Given the description of an element on the screen output the (x, y) to click on. 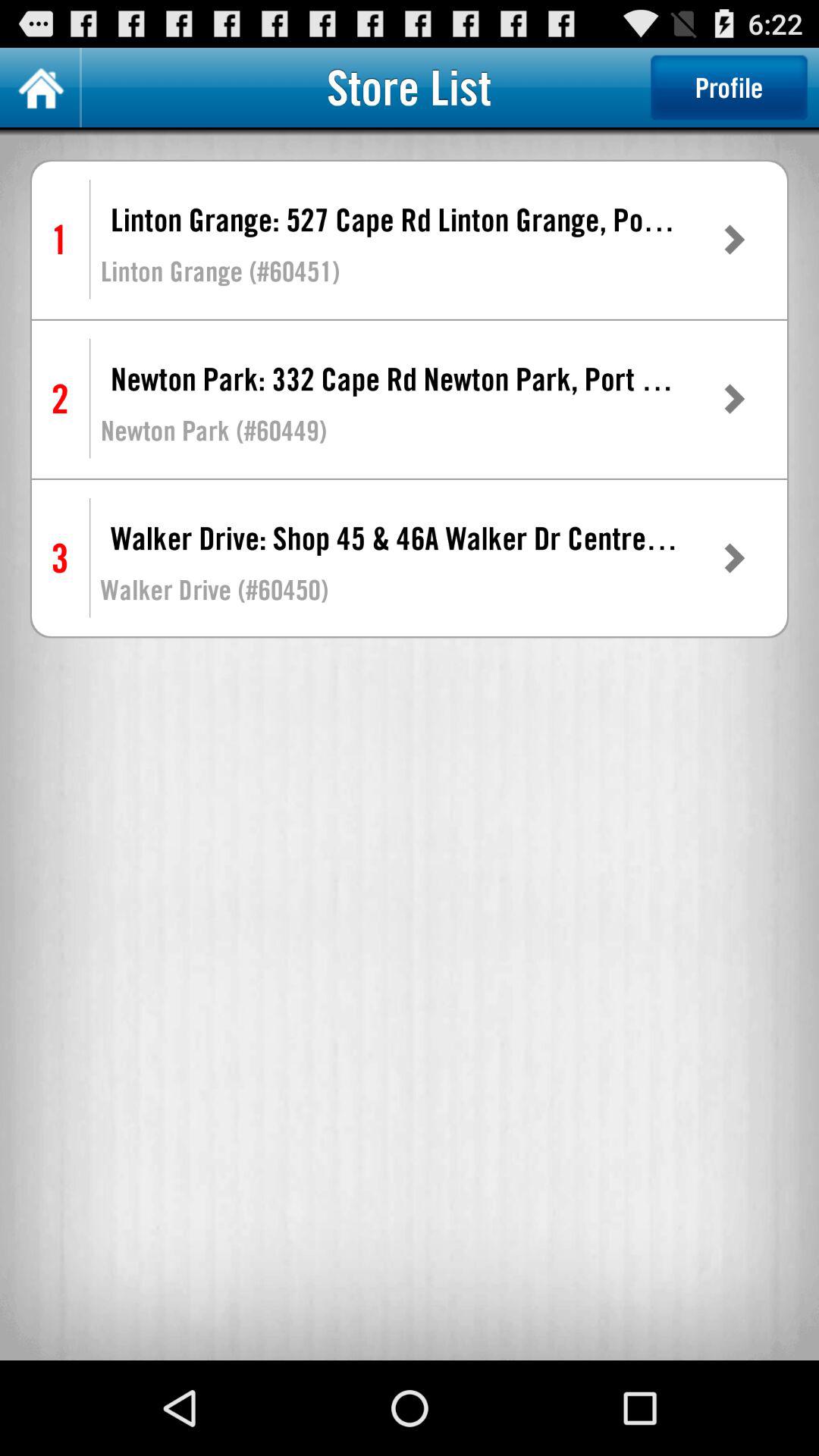
tap the app to the right of walker drive shop app (733, 558)
